Given the description of an element on the screen output the (x, y) to click on. 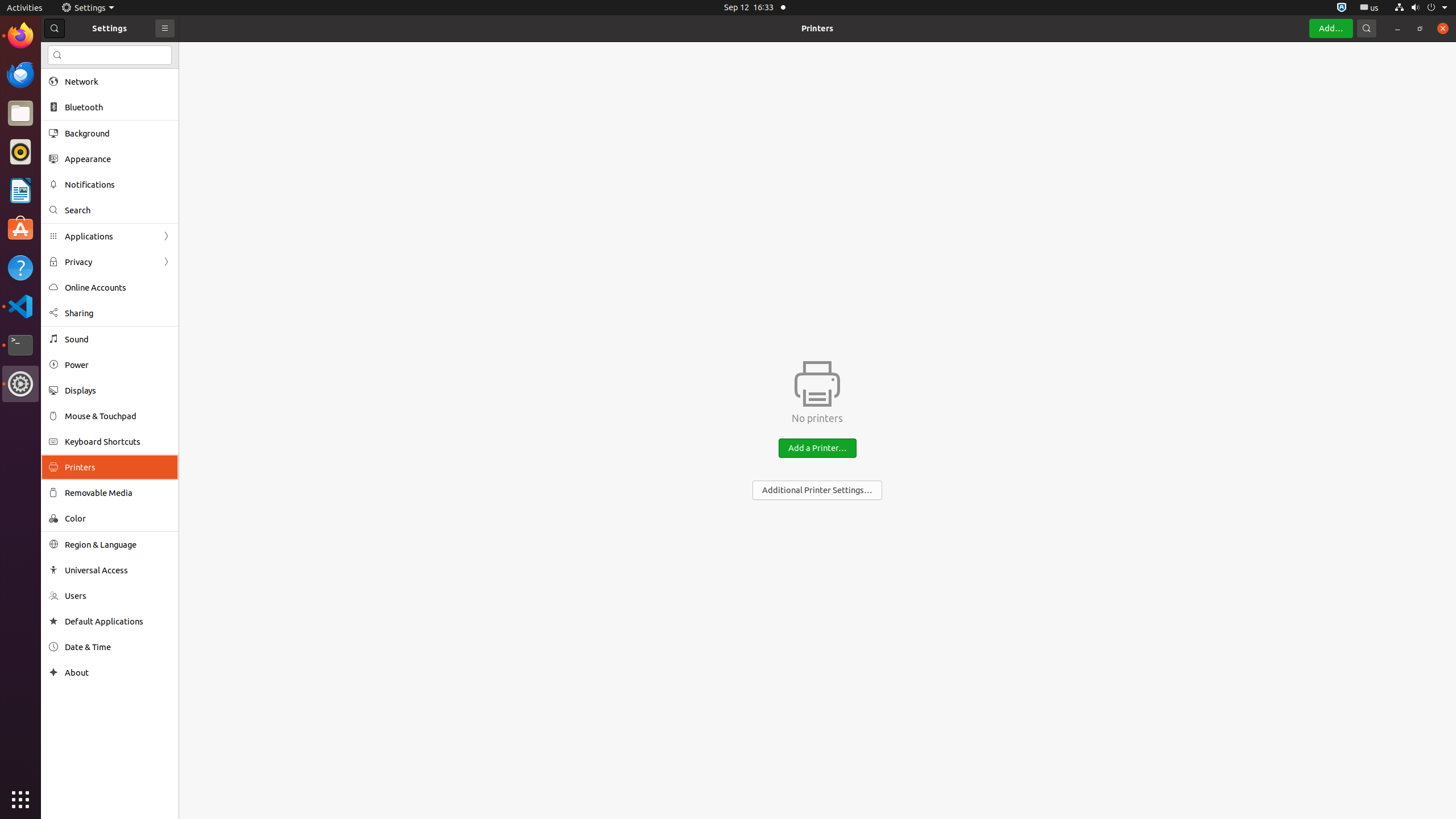
Removable Media Element type: label (117, 492)
li.txt Element type: label (146, 50)
No printers Element type: label (817, 418)
Add a Printer… Element type: push-button (817, 447)
Default Applications Element type: label (117, 621)
